Given the description of an element on the screen output the (x, y) to click on. 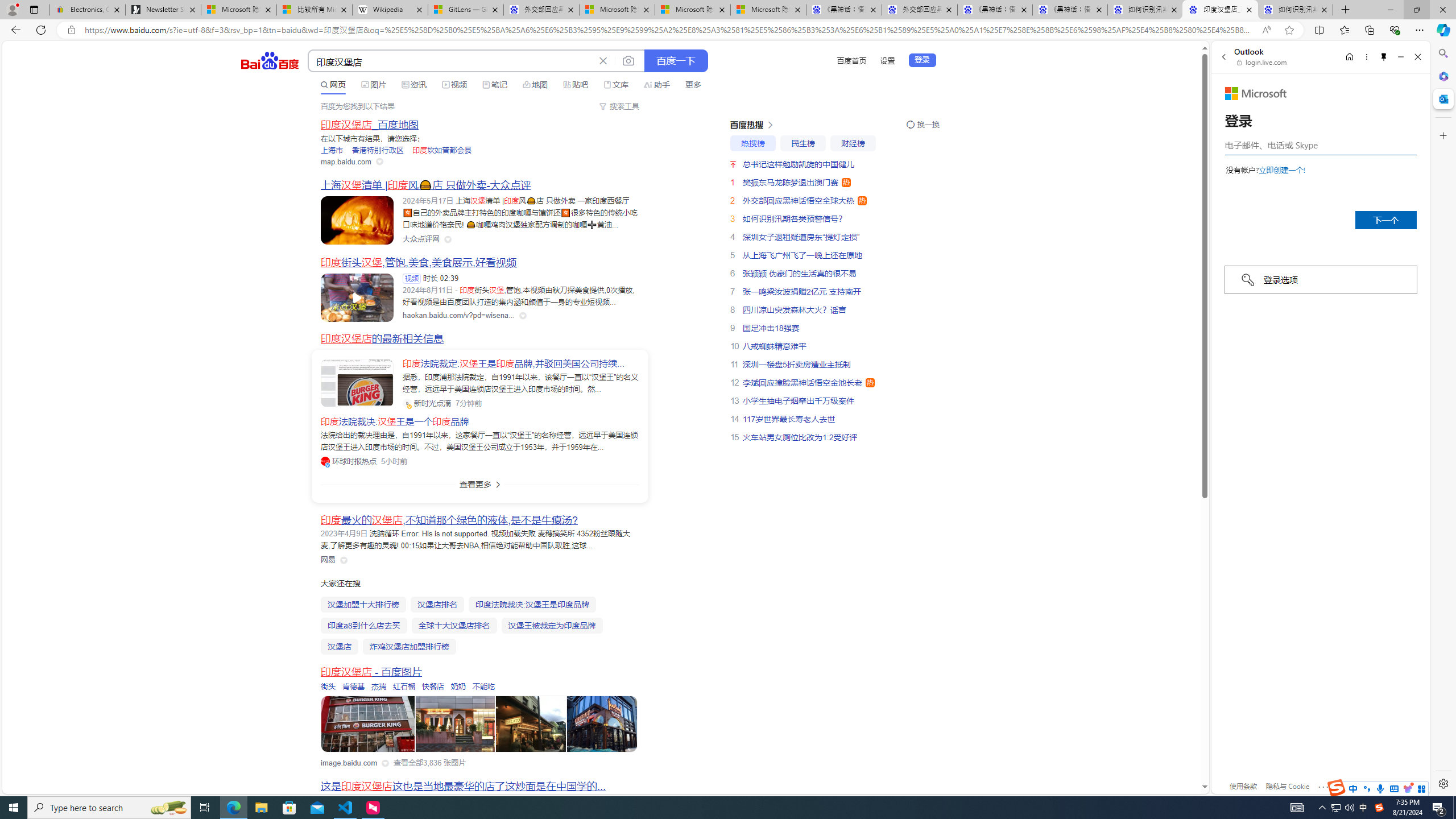
Unpin side pane (1383, 56)
More options (1366, 56)
Wikipedia (389, 9)
AutomationID: kw (451, 61)
